Given the description of an element on the screen output the (x, y) to click on. 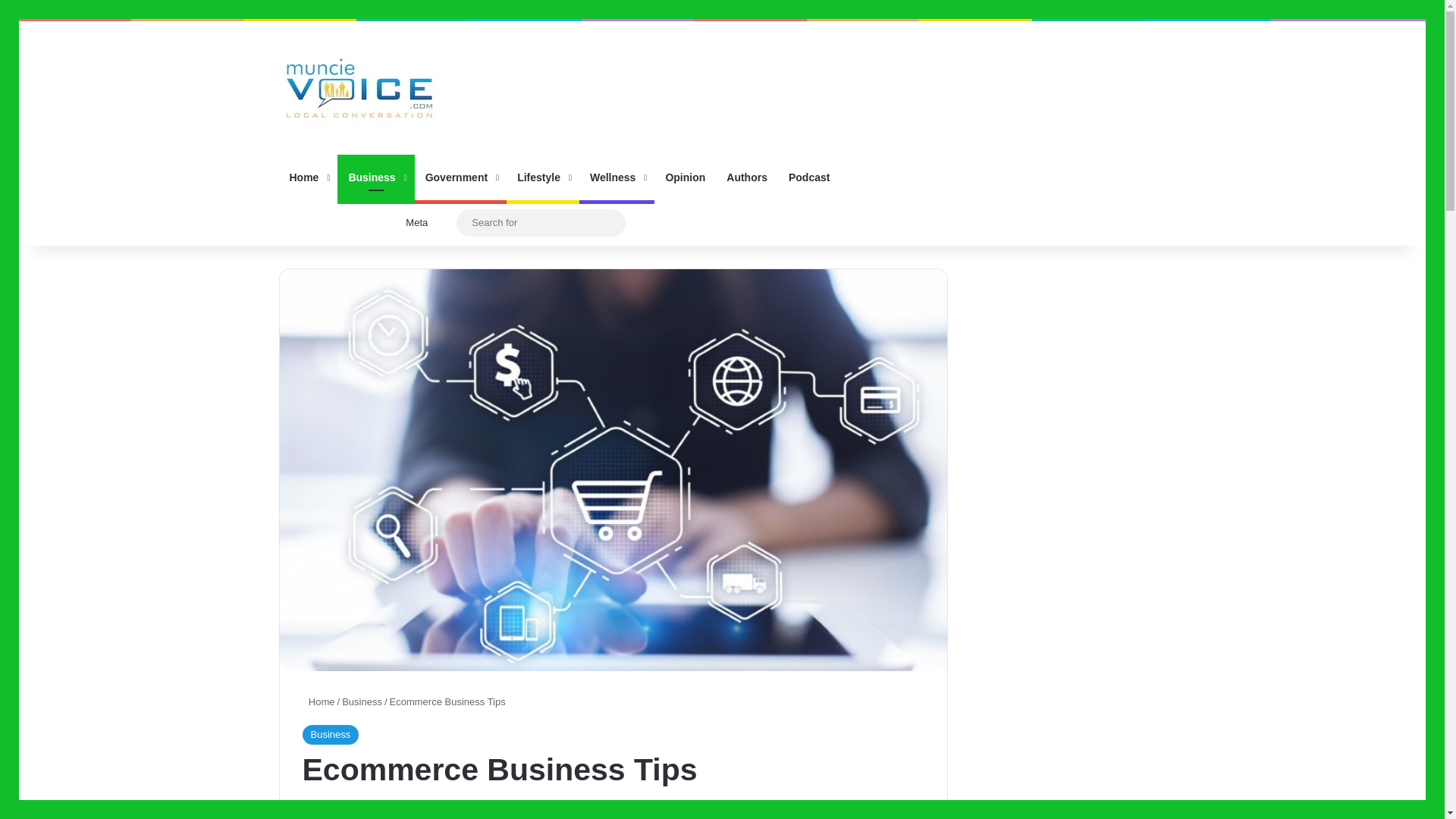
Home (308, 176)
Podcast (808, 176)
Business (361, 701)
Lifestyle (542, 176)
Government (460, 176)
Search for (610, 222)
Business (329, 734)
Home (317, 701)
Opinion (684, 176)
Muncie Voice (359, 87)
Search for (541, 221)
Authors (746, 176)
Wellness (616, 176)
Business (375, 176)
